Given the description of an element on the screen output the (x, y) to click on. 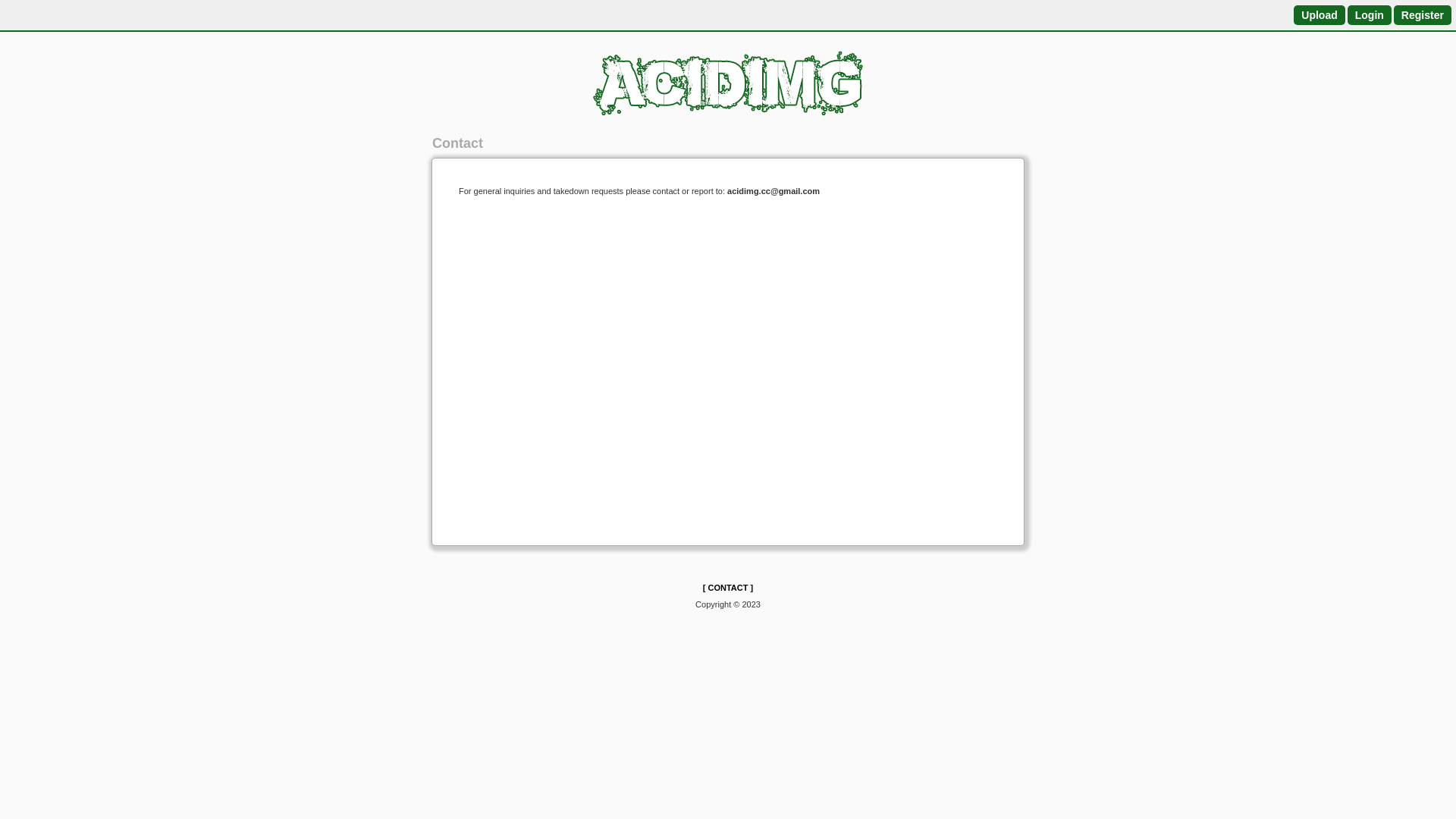
Login Element type: text (1369, 15)
Upload Element type: text (1318, 15)
[ CONTACT ] Element type: text (727, 587)
Register Element type: text (1422, 15)
